Given the description of an element on the screen output the (x, y) to click on. 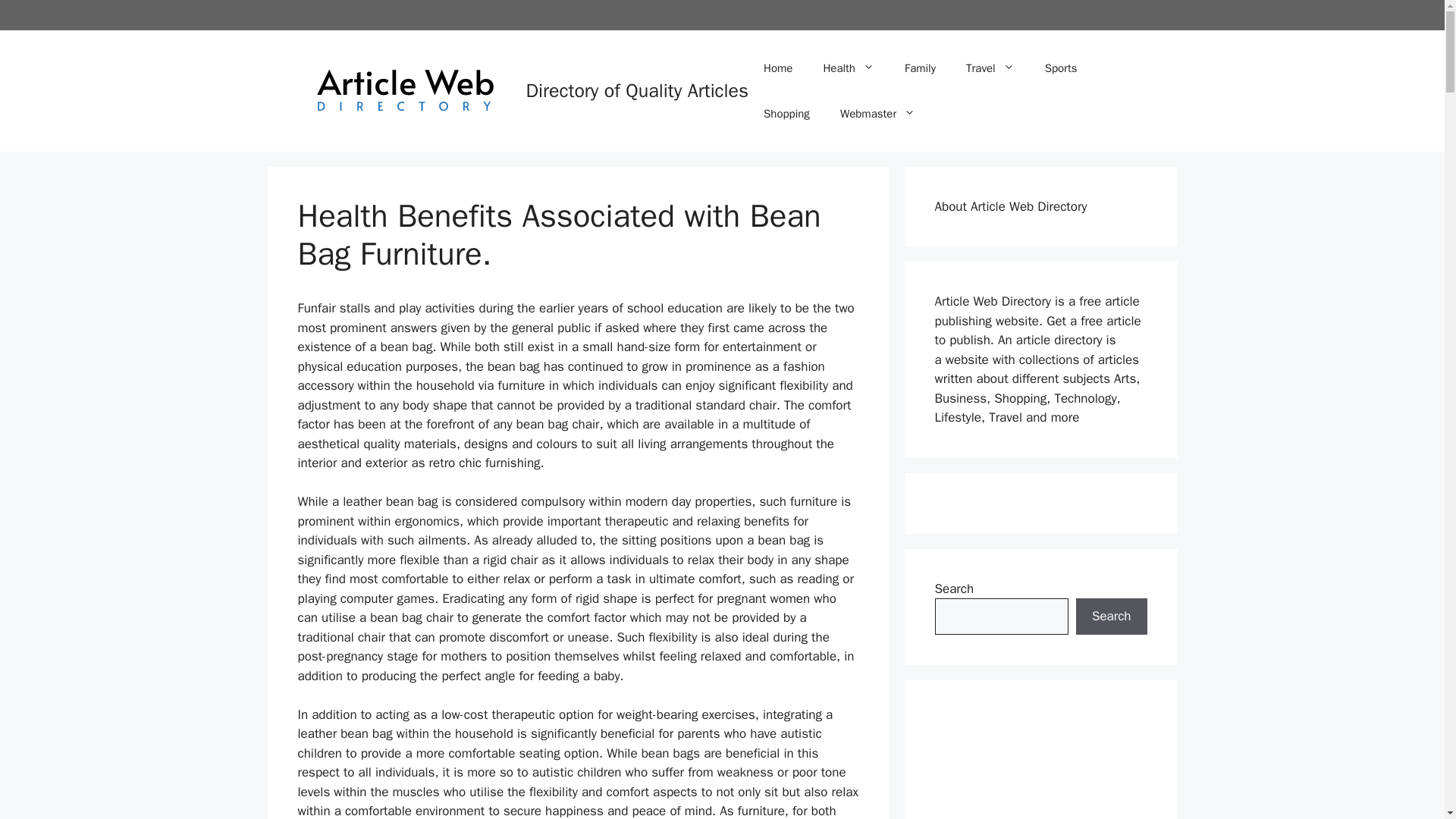
Directory of Quality Articles (637, 90)
Shopping (786, 113)
Travel (989, 67)
Home (778, 67)
Health (848, 67)
Webmaster (877, 113)
Search (1111, 616)
Sports (1061, 67)
Family (919, 67)
